Given the description of an element on the screen output the (x, y) to click on. 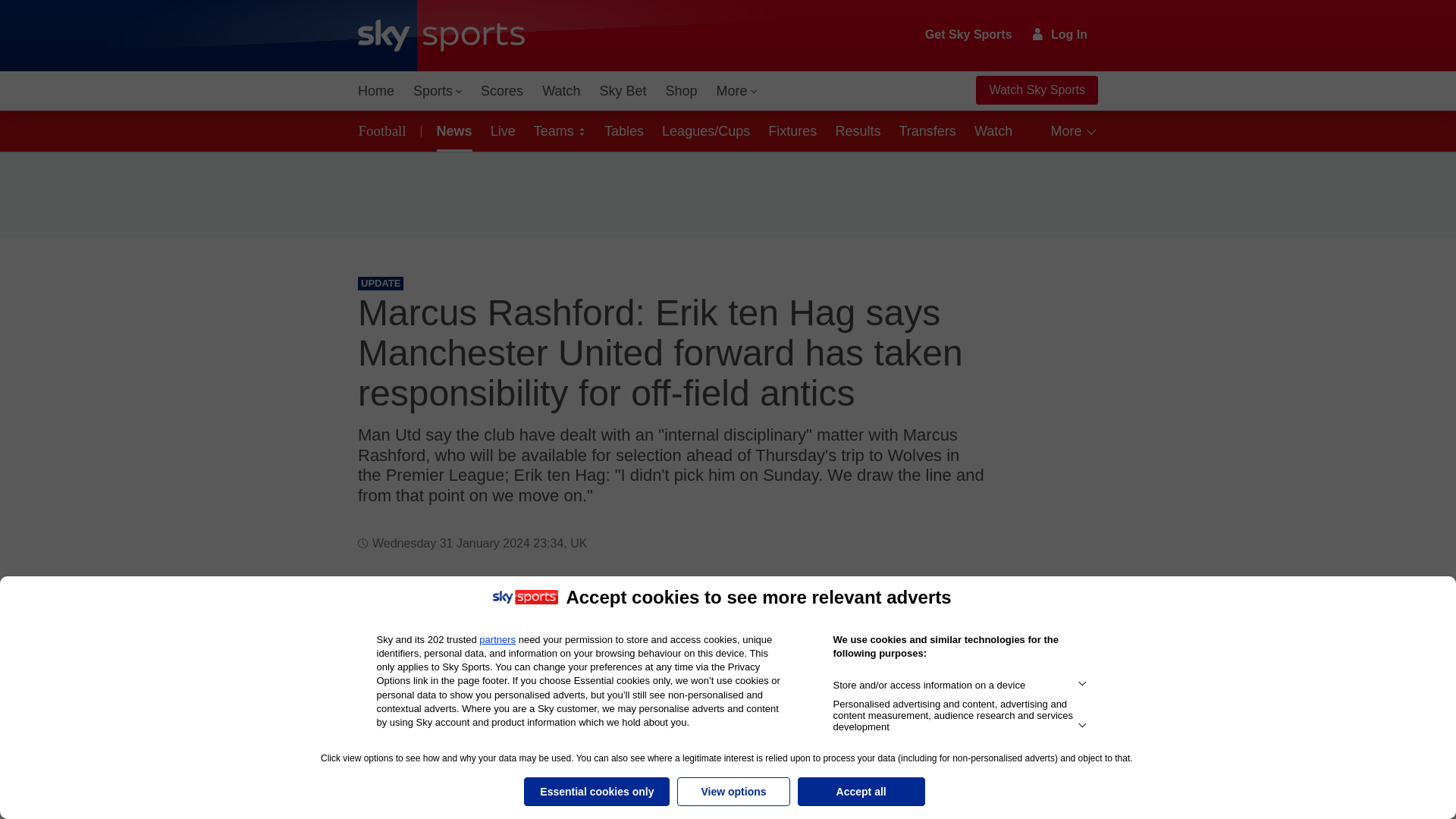
Home (375, 91)
Watch (561, 91)
Scores (502, 91)
Sports (437, 91)
Football (385, 130)
Get Sky Sports (968, 34)
More (736, 91)
Watch Sky Sports (1036, 90)
Sky Bet (622, 91)
Log In (1060, 33)
